Given the description of an element on the screen output the (x, y) to click on. 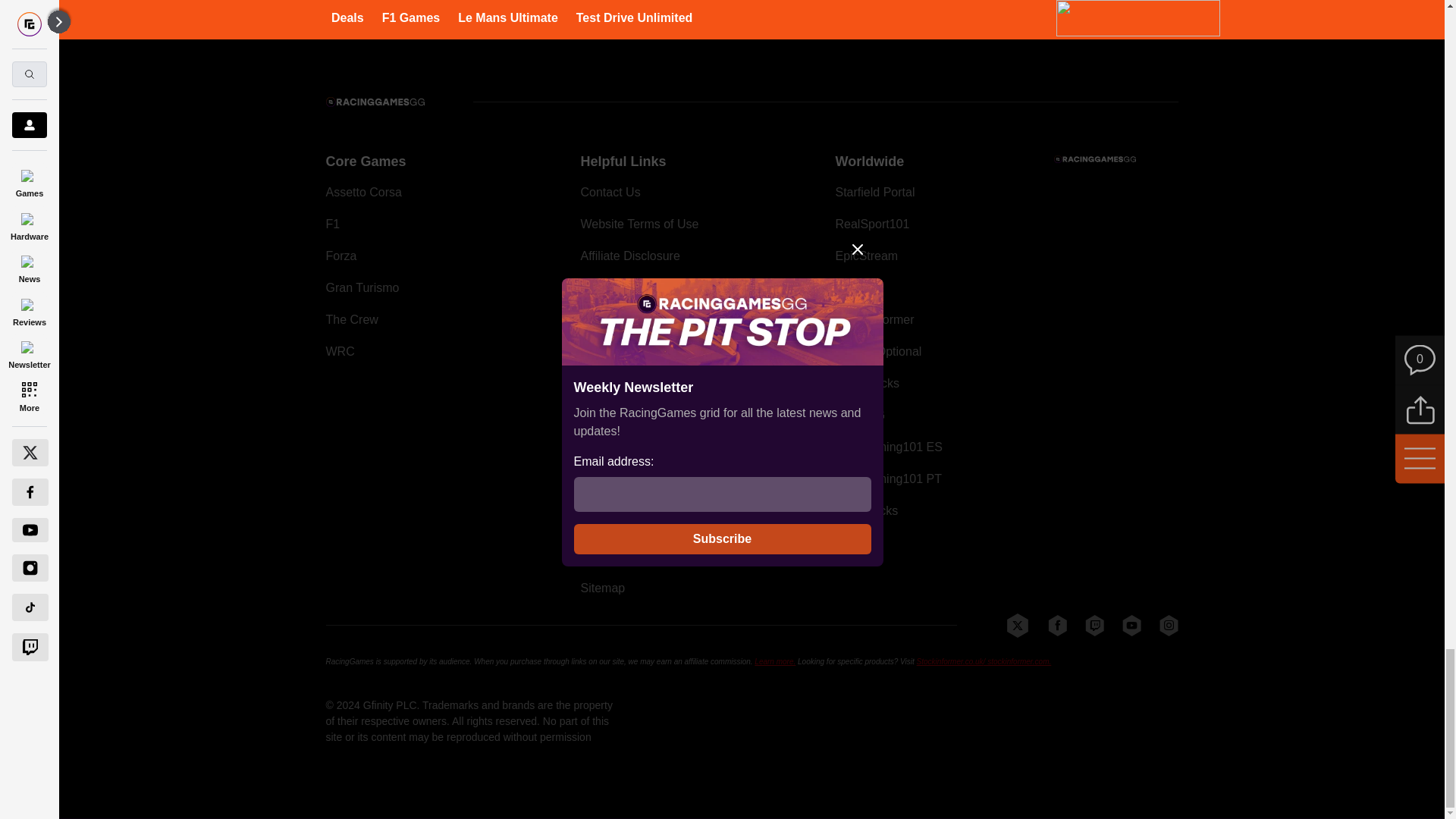
Latest News (1063, 5)
